Given the description of an element on the screen output the (x, y) to click on. 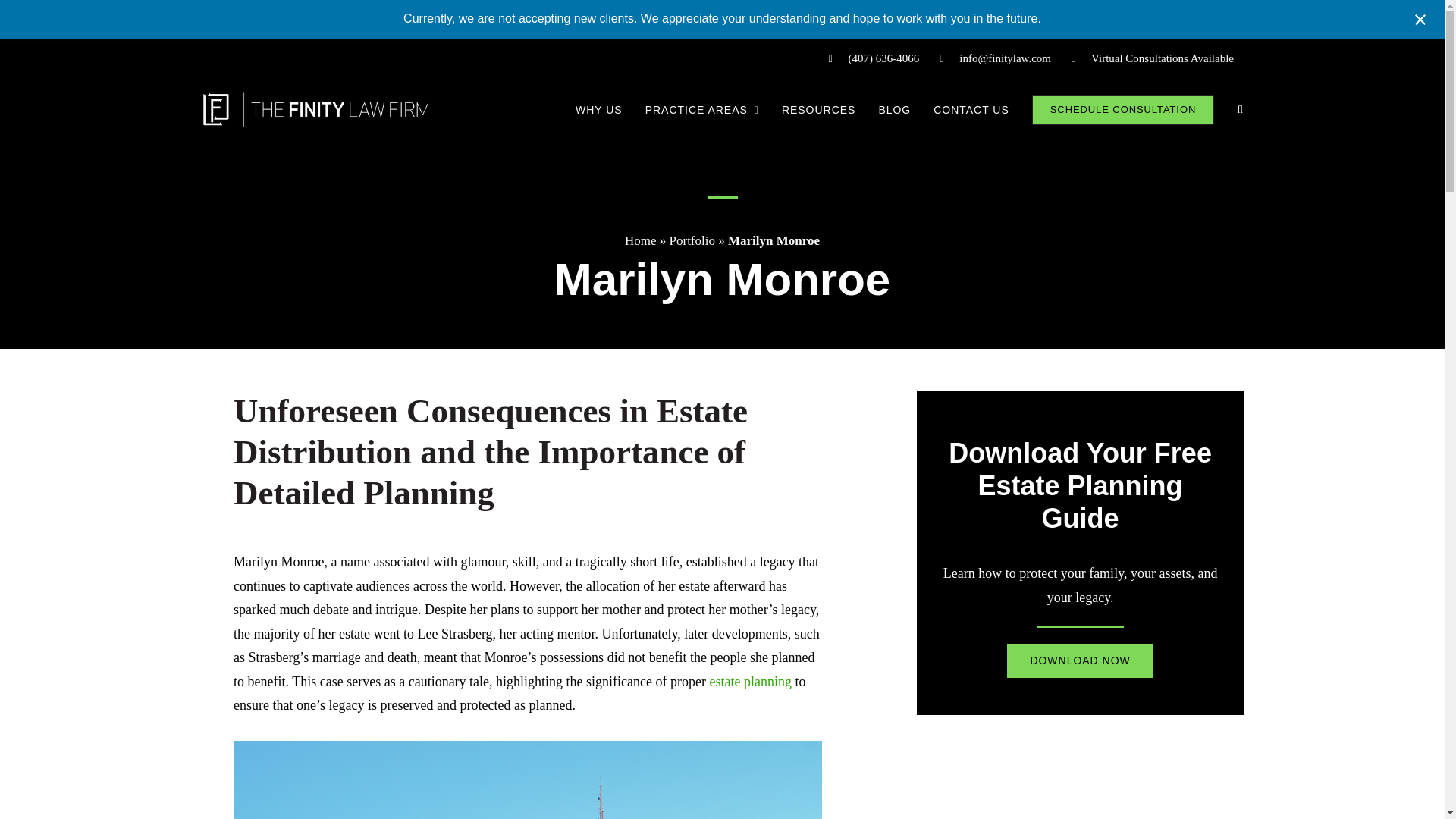
RESOURCES (818, 109)
Virtual Consultations Available (1152, 57)
Marilyn Monroe Estate Planning Famous Wealthy Example (527, 780)
CONTACT US (971, 109)
SCHEDULE CONSULTATION (1123, 109)
PRACTICE AREAS (701, 109)
